Given the description of an element on the screen output the (x, y) to click on. 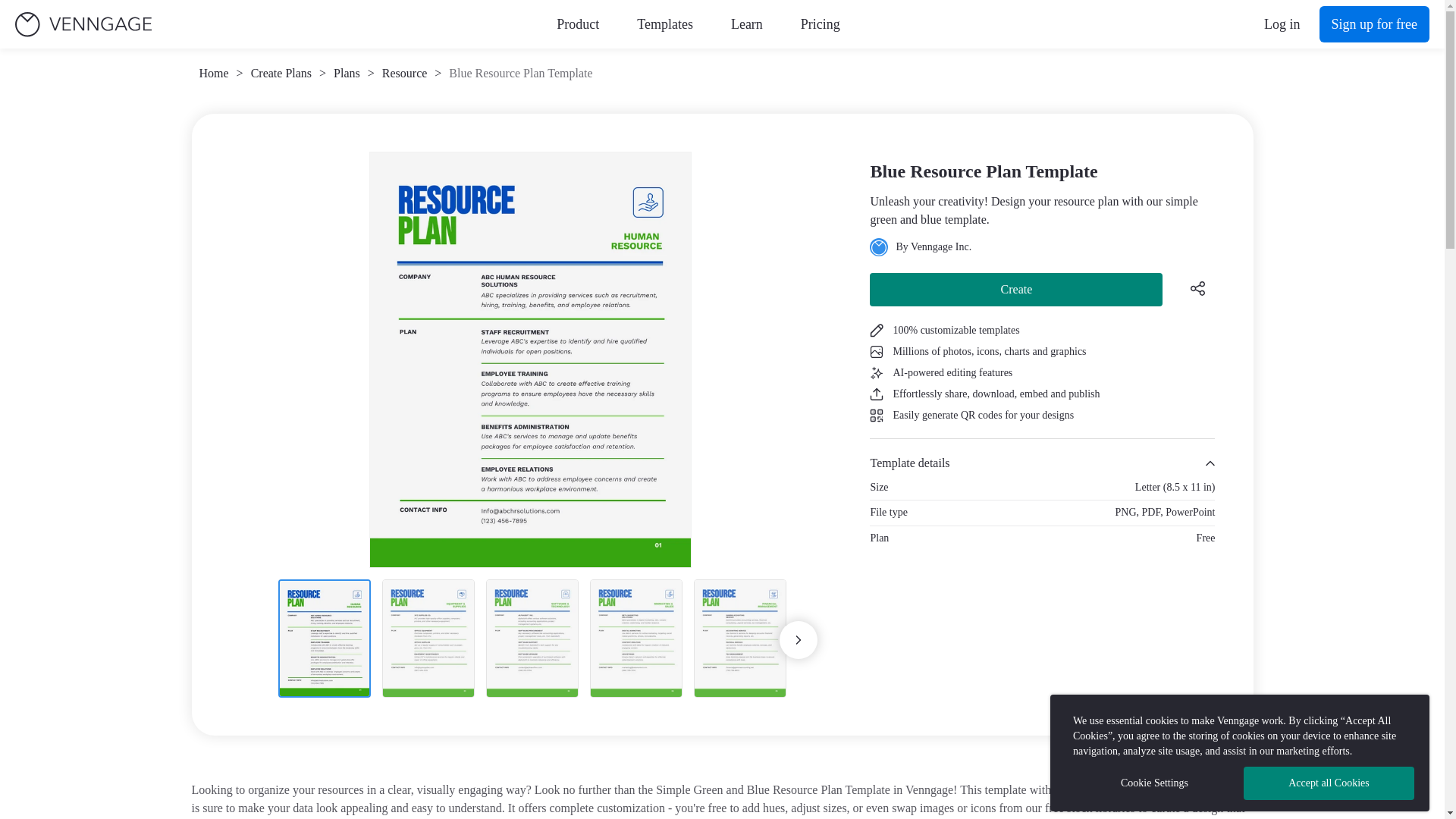
Create Plans (280, 73)
Template details (1041, 463)
Venngage Home page (82, 24)
Sign up for free (1374, 24)
Home (213, 73)
Open Share Menu (1197, 287)
Plans (346, 73)
Resource (404, 73)
Templates (664, 23)
Log in (1281, 24)
